Given the description of an element on the screen output the (x, y) to click on. 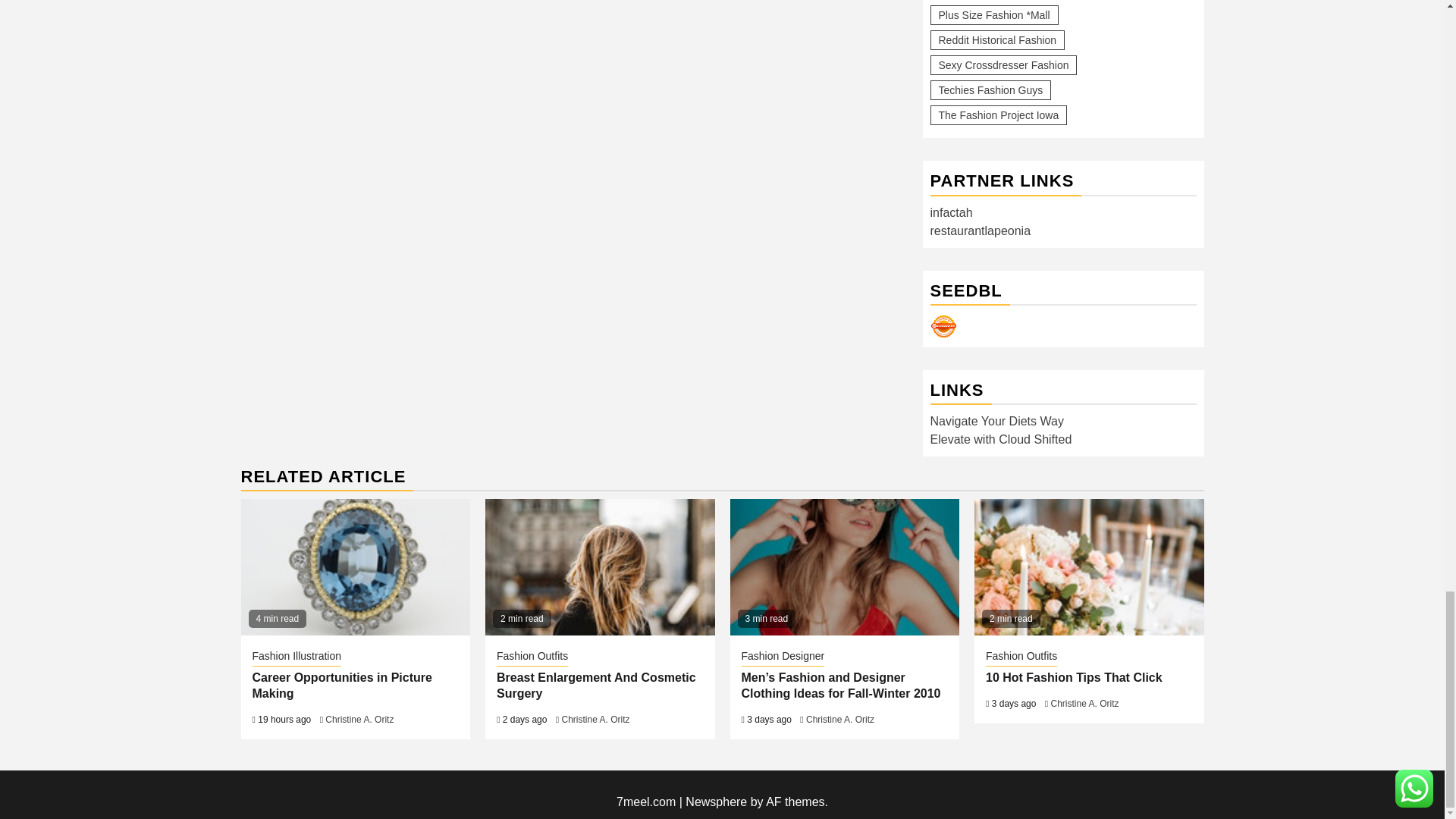
Seedbacklink (943, 325)
Career Opportunities in Picture Making (355, 566)
Breast Enlargement And Cosmetic Surgery (599, 566)
